Given the description of an element on the screen output the (x, y) to click on. 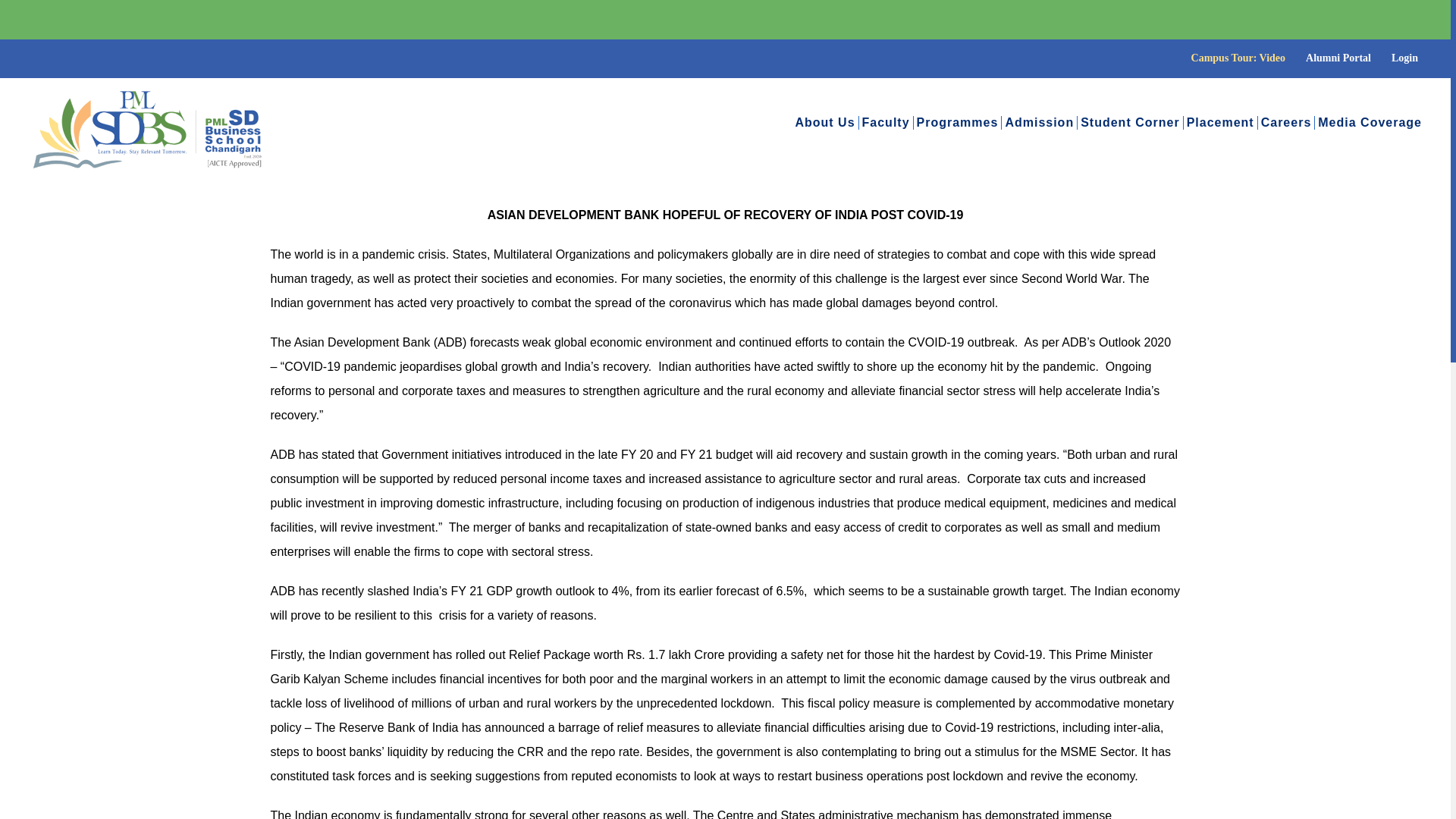
Programmes (957, 122)
Alumni Portal (1337, 57)
Admission (1039, 122)
Login (1404, 57)
Student Corner (1129, 122)
About Us (824, 122)
Campus Tour: Video (1237, 57)
Faculty (885, 122)
